Given the description of an element on the screen output the (x, y) to click on. 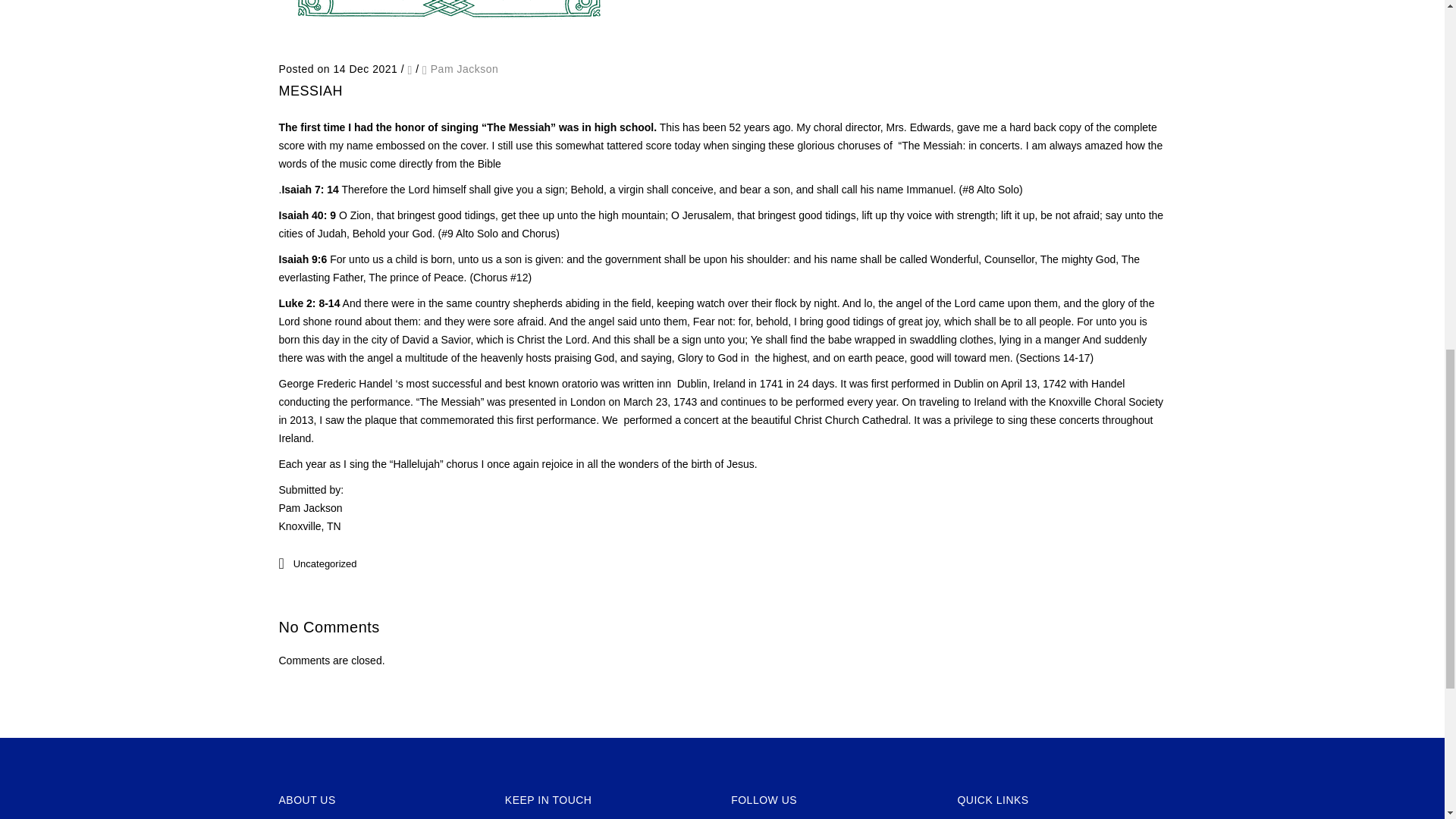
Pam Jackson (464, 69)
Permalink to Messiah (449, 40)
MESSIAH (311, 90)
Permalink to Messiah (311, 90)
View all posts by Pam Jackson (464, 69)
Uncategorized (325, 563)
